Given the description of an element on the screen output the (x, y) to click on. 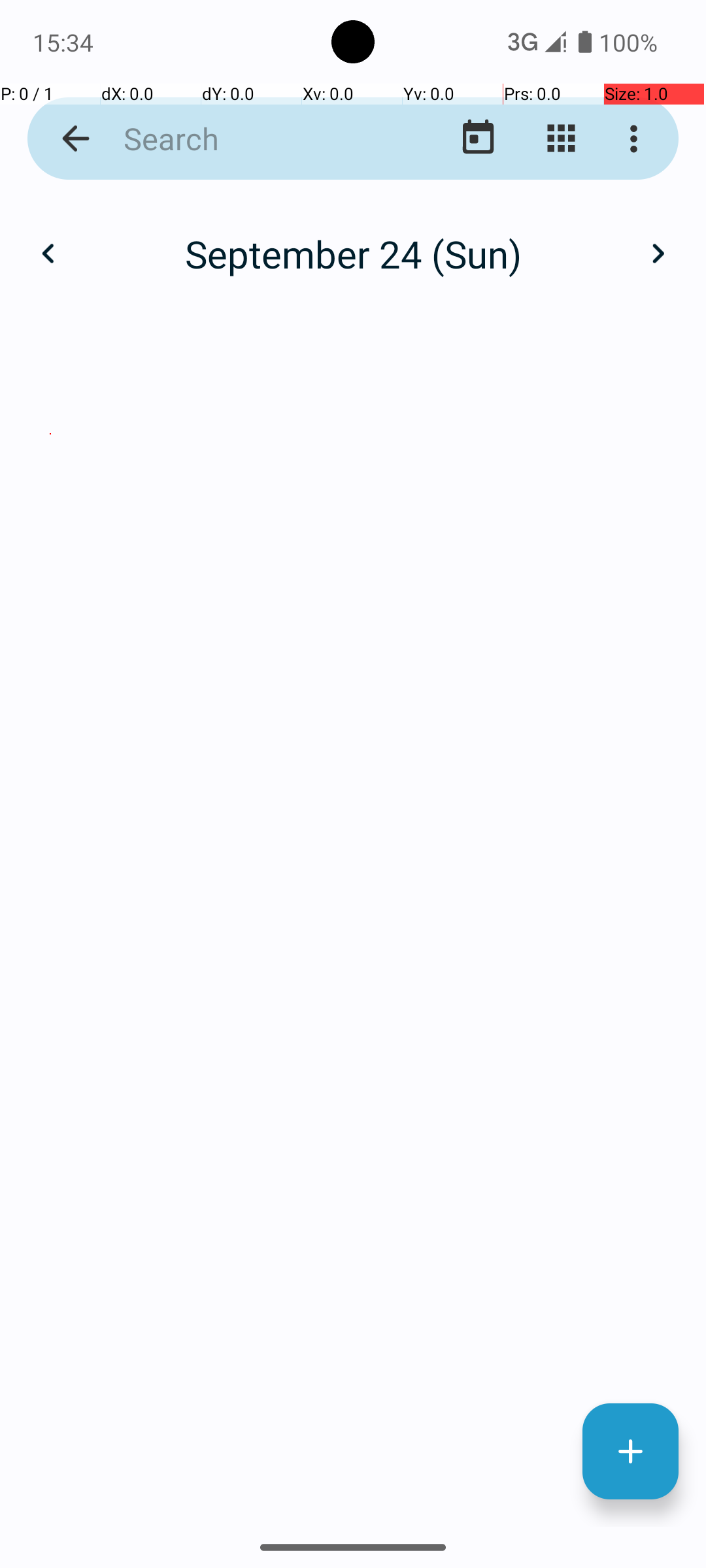
Go to today Element type: android.widget.Button (477, 138)
September 24 (Sun) Element type: android.widget.TextView (352, 253)
